Given the description of an element on the screen output the (x, y) to click on. 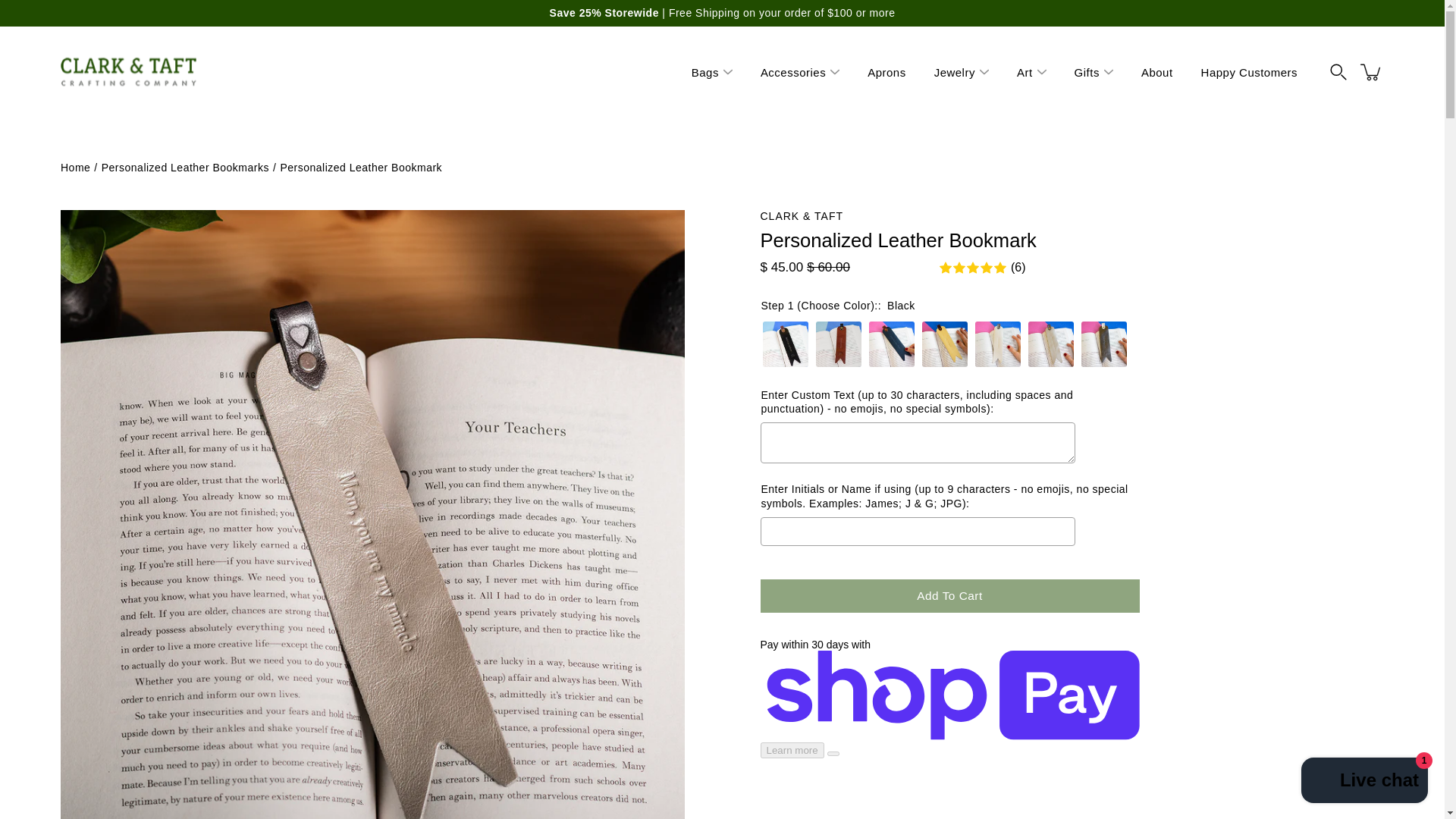
Bags (705, 71)
Gifts (1086, 71)
Back to the Homepage (75, 167)
About (1157, 71)
Jewelry (954, 71)
Accessories (792, 71)
Art (1024, 71)
Happy Customers (1249, 71)
